Given the description of an element on the screen output the (x, y) to click on. 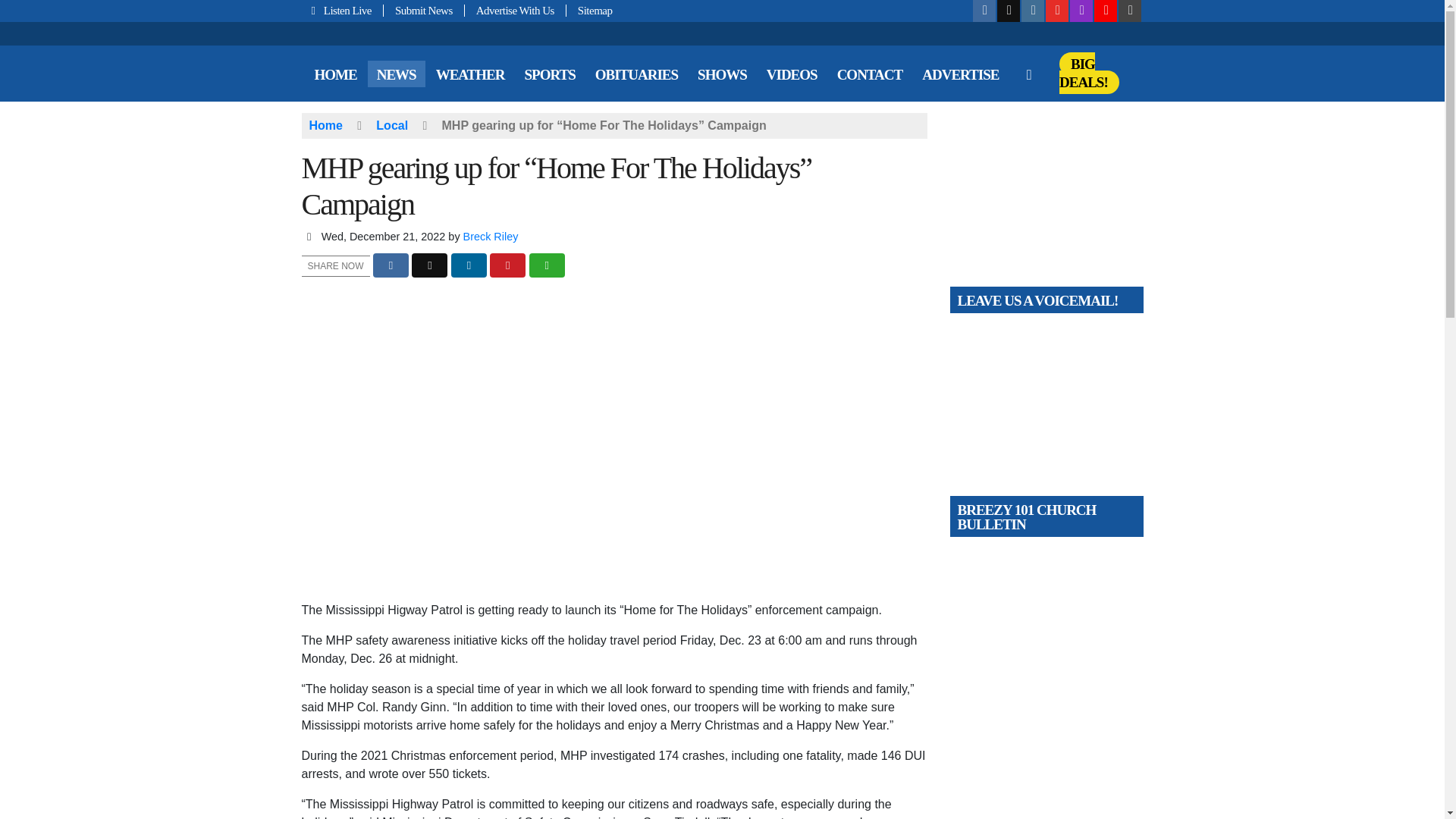
Follow us on X (1008, 11)
Follow our Podcast (1081, 11)
Listen Live (342, 10)
Follow us on Soundcloud (1105, 11)
Follow us on Youtube (1056, 11)
Sitemap (589, 10)
Advertise With Us (515, 10)
Follow us on Facebook (983, 11)
Submit News (424, 10)
Follow us on Instagram (1032, 11)
